Given the description of an element on the screen output the (x, y) to click on. 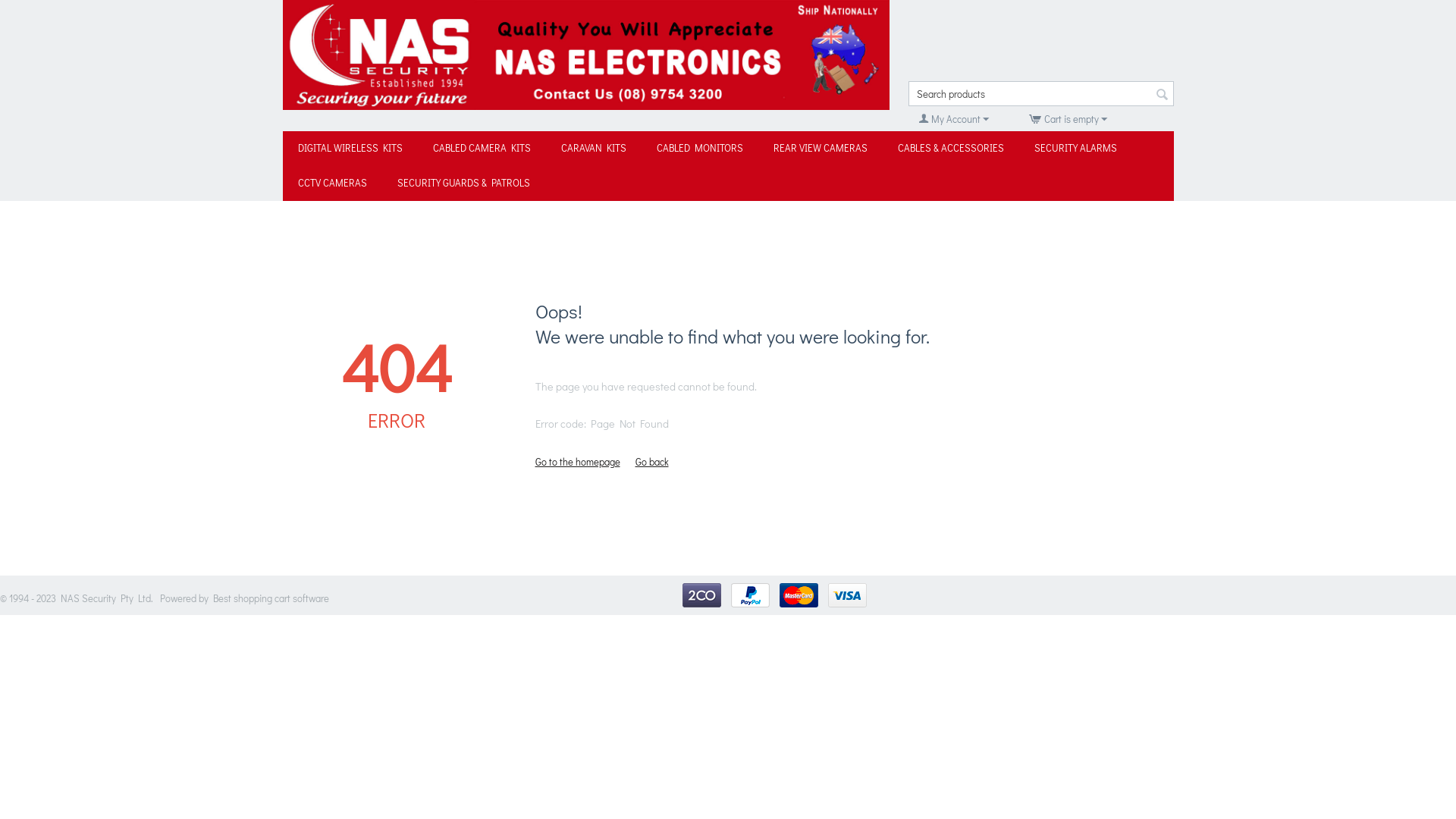
Go back Element type: text (651, 461)
CARAVAN KITS Element type: text (593, 148)
Search Element type: hover (1161, 94)
REAR VIEW CAMERAS Element type: text (820, 148)
Go to the homepage Element type: text (577, 461)
Best shopping cart software Element type: text (271, 597)
Cart is empty Element type: text (1067, 118)
CABLES & ACCESSORIES Element type: text (950, 148)
Search products Element type: hover (1040, 93)
SECURITY ALARMS Element type: text (1075, 148)
SECURITY GUARDS & PATROLS Element type: text (463, 183)
CABLED CAMERA KITS Element type: text (481, 148)
CABLED MONITORS Element type: text (699, 148)
DIGITAL WIRELESS KITS Element type: text (349, 148)
CCTV CAMERAS Element type: text (331, 183)
 My Account Element type: text (952, 118)
NAS Security Element type: hover (585, 54)
